Given the description of an element on the screen output the (x, y) to click on. 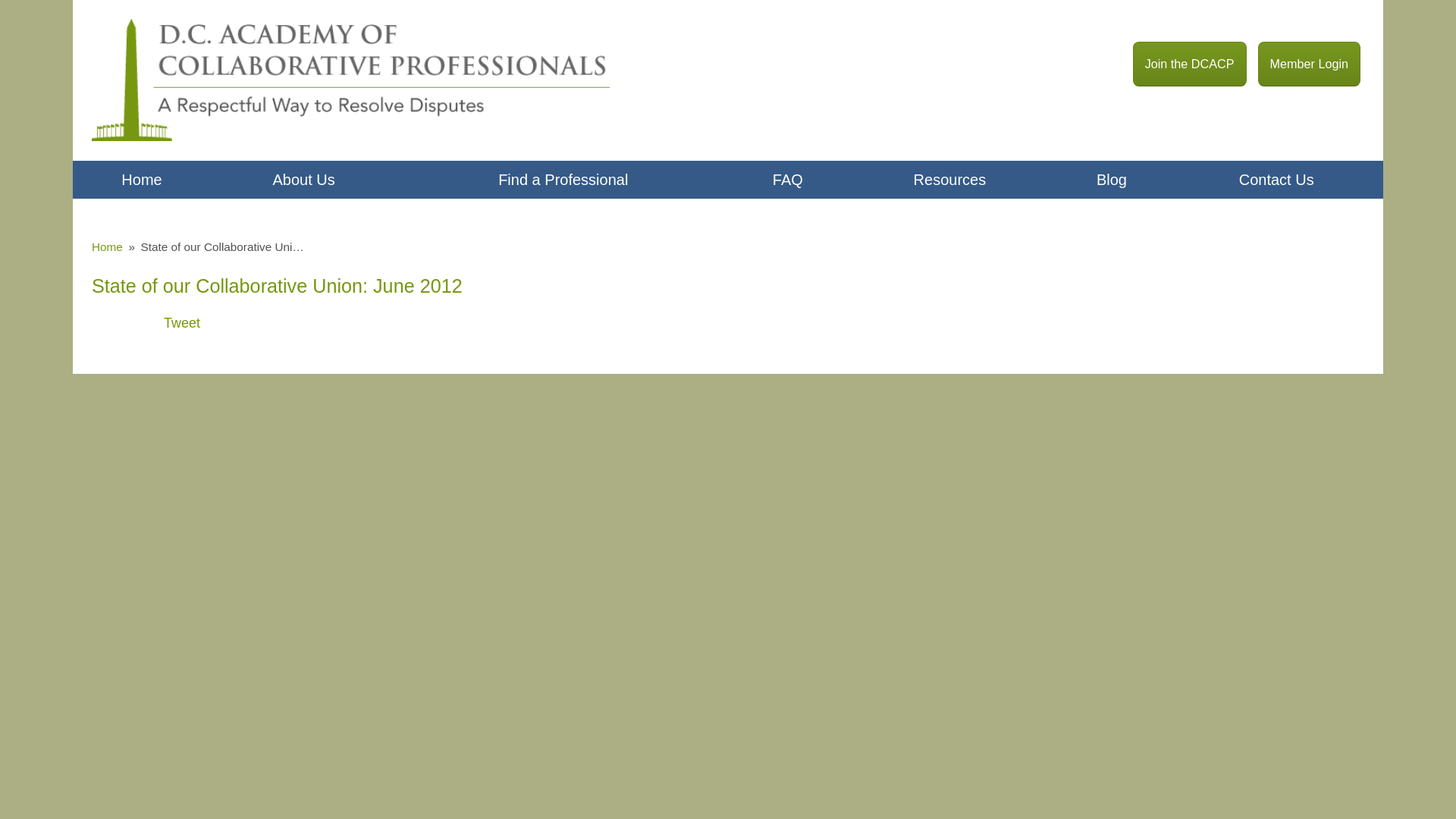
About Us (303, 179)
Home (141, 179)
Tweet (181, 322)
Blog (1112, 179)
Join the DCACP (1189, 63)
Renew Membership Online (1308, 63)
Home (106, 246)
Member Login (1308, 63)
Join the DCACP (1189, 63)
Contact Us (1276, 179)
Resources (948, 179)
Find a Professional (562, 179)
FAQ (787, 179)
